Given the description of an element on the screen output the (x, y) to click on. 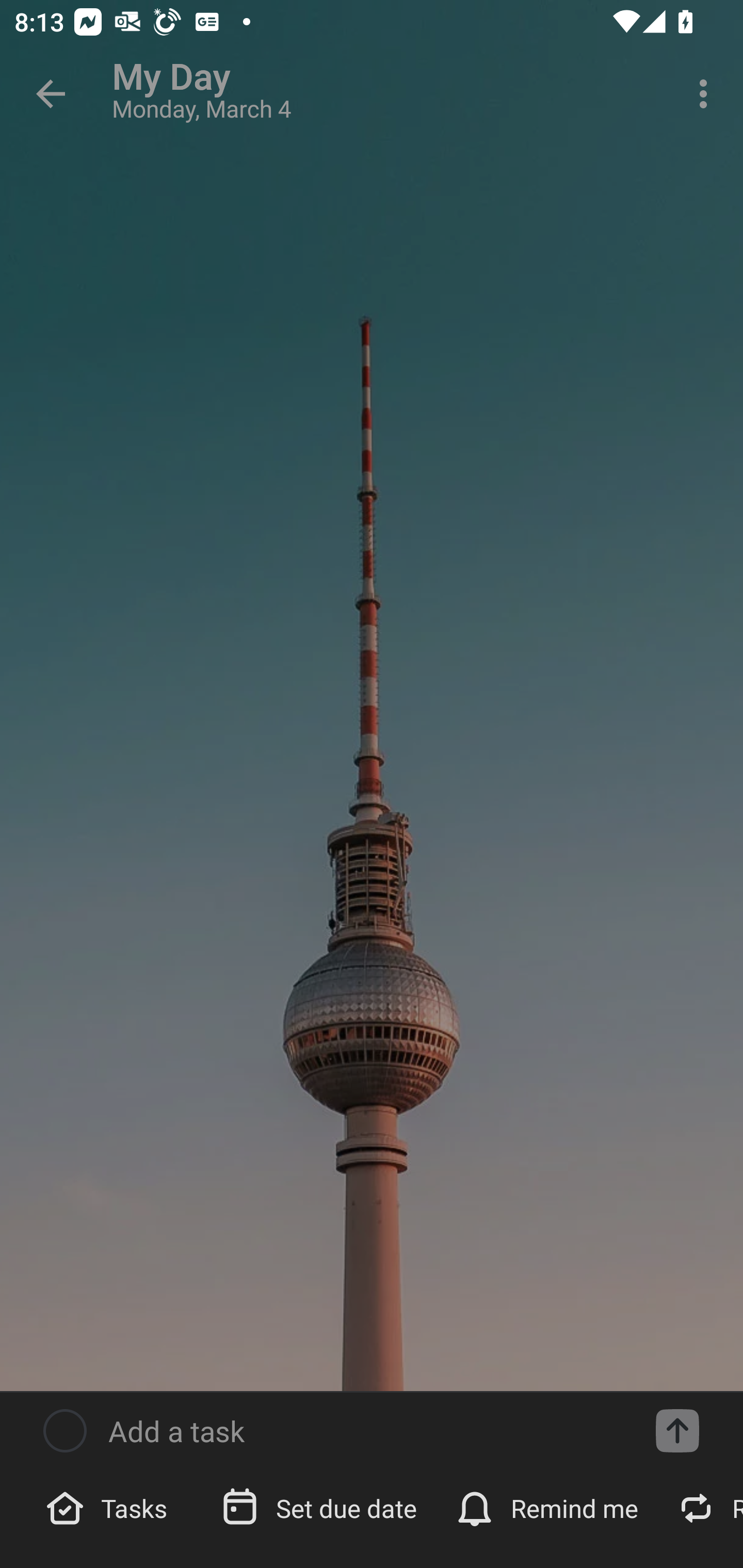
Add a task (676, 1430)
Add a task (366, 1430)
Tasks (108, 1507)
Set due date (321, 1507)
Remind me (548, 1507)
